Given the description of an element on the screen output the (x, y) to click on. 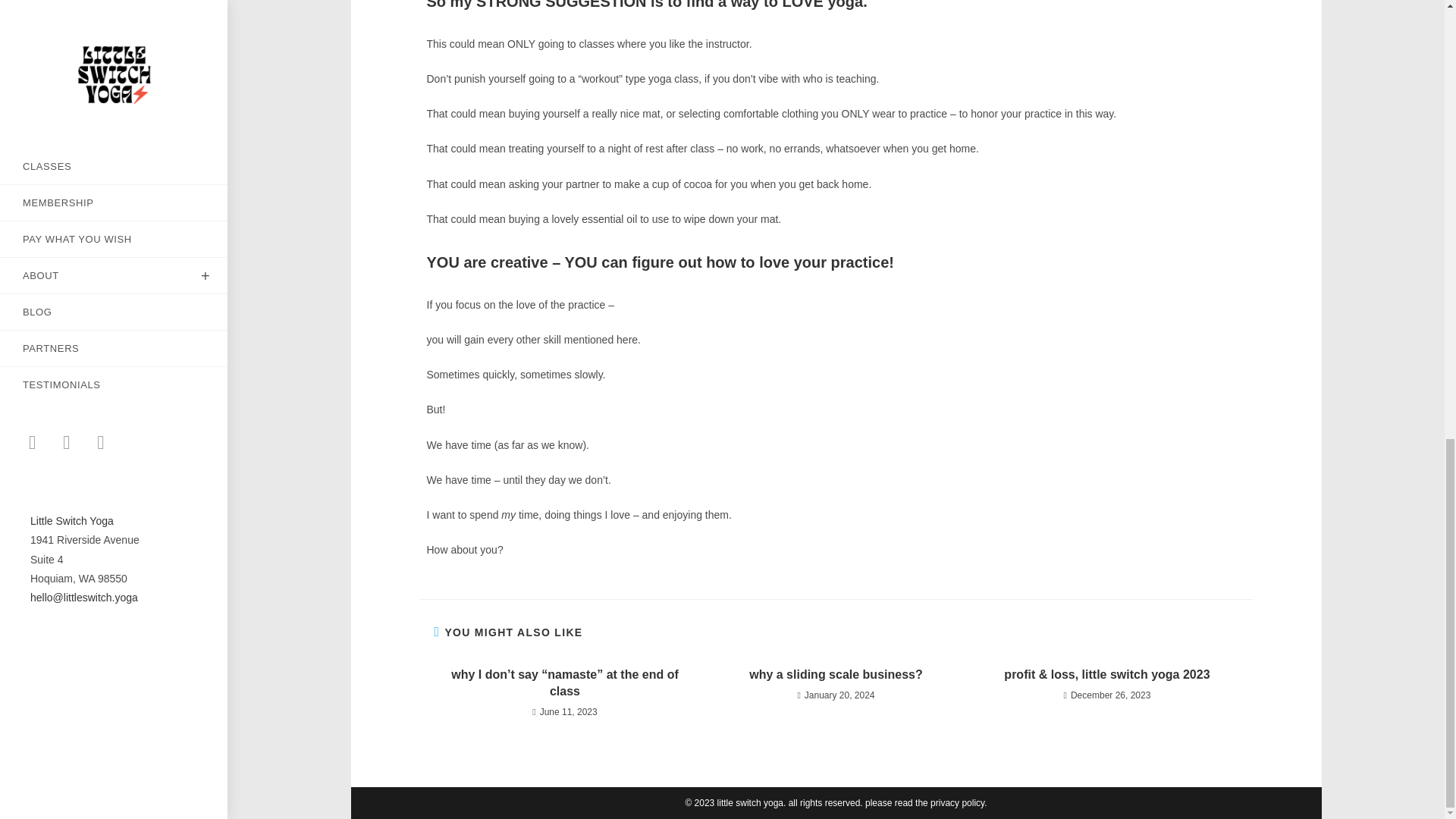
privacy policy (957, 802)
why a sliding scale business? (836, 674)
